Given the description of an element on the screen output the (x, y) to click on. 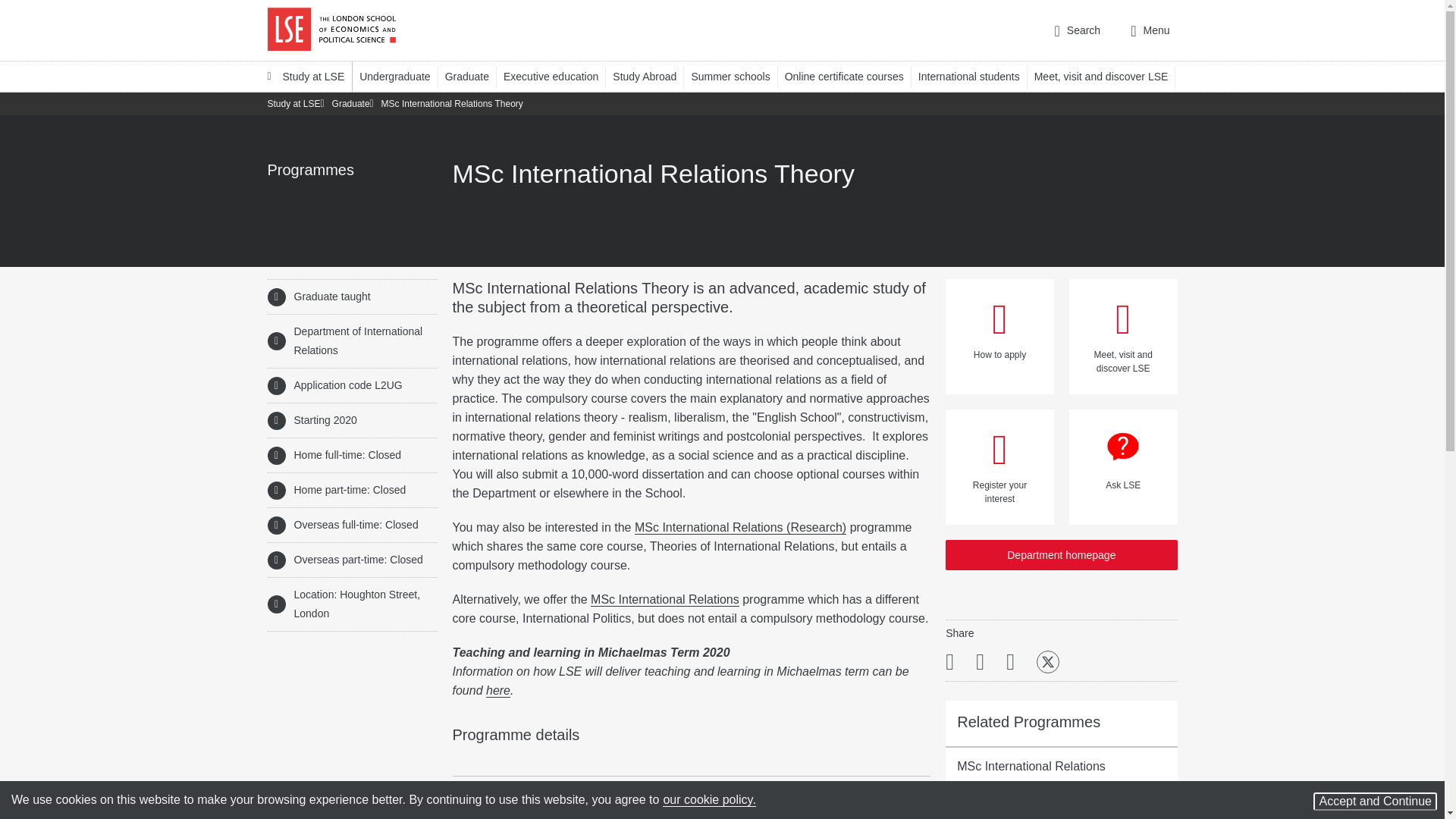
Graduate (474, 76)
Summer schools (737, 76)
International students (975, 76)
Study Abroad (651, 76)
Meet, visit and discover LSE (1107, 76)
Executive education (557, 76)
International students (975, 76)
Summer schools (737, 76)
Executive education (557, 76)
Study at LSE (305, 76)
Study at LSE (305, 76)
Online certificate courses (851, 76)
Menu (1150, 30)
Meet, visit and discover LSE (1107, 76)
Study Abroad (651, 76)
